Given the description of an element on the screen output the (x, y) to click on. 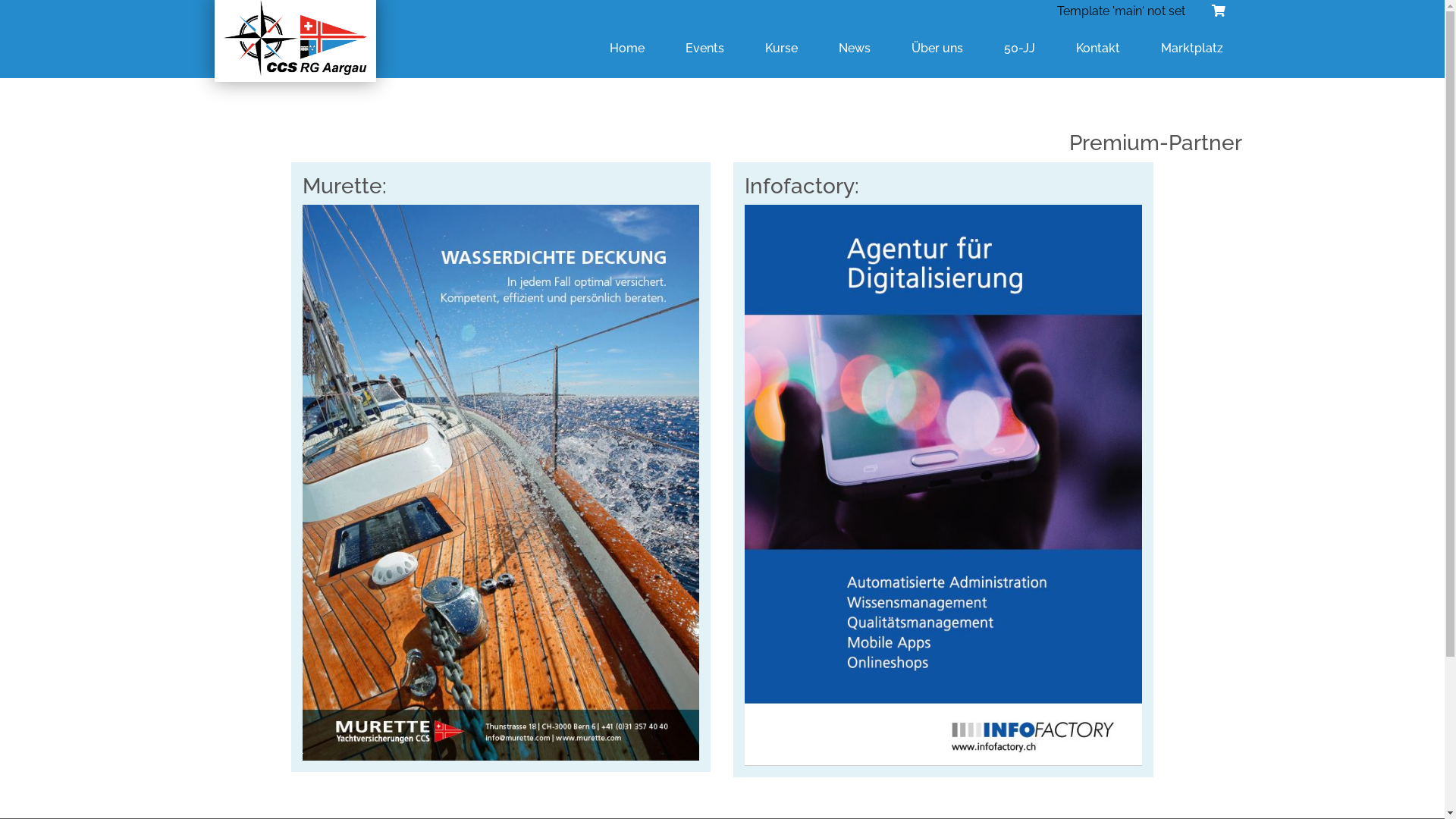
News Element type: text (854, 47)
Kurse Element type: text (780, 47)
Home Element type: text (626, 47)
Marktplatz Element type: text (1191, 47)
50-JJ Element type: text (1019, 47)
Kontakt Element type: text (1097, 47)
Events Element type: text (704, 47)
Infofactory: Element type: text (942, 469)
Murette: Element type: text (500, 466)
